Given the description of an element on the screen output the (x, y) to click on. 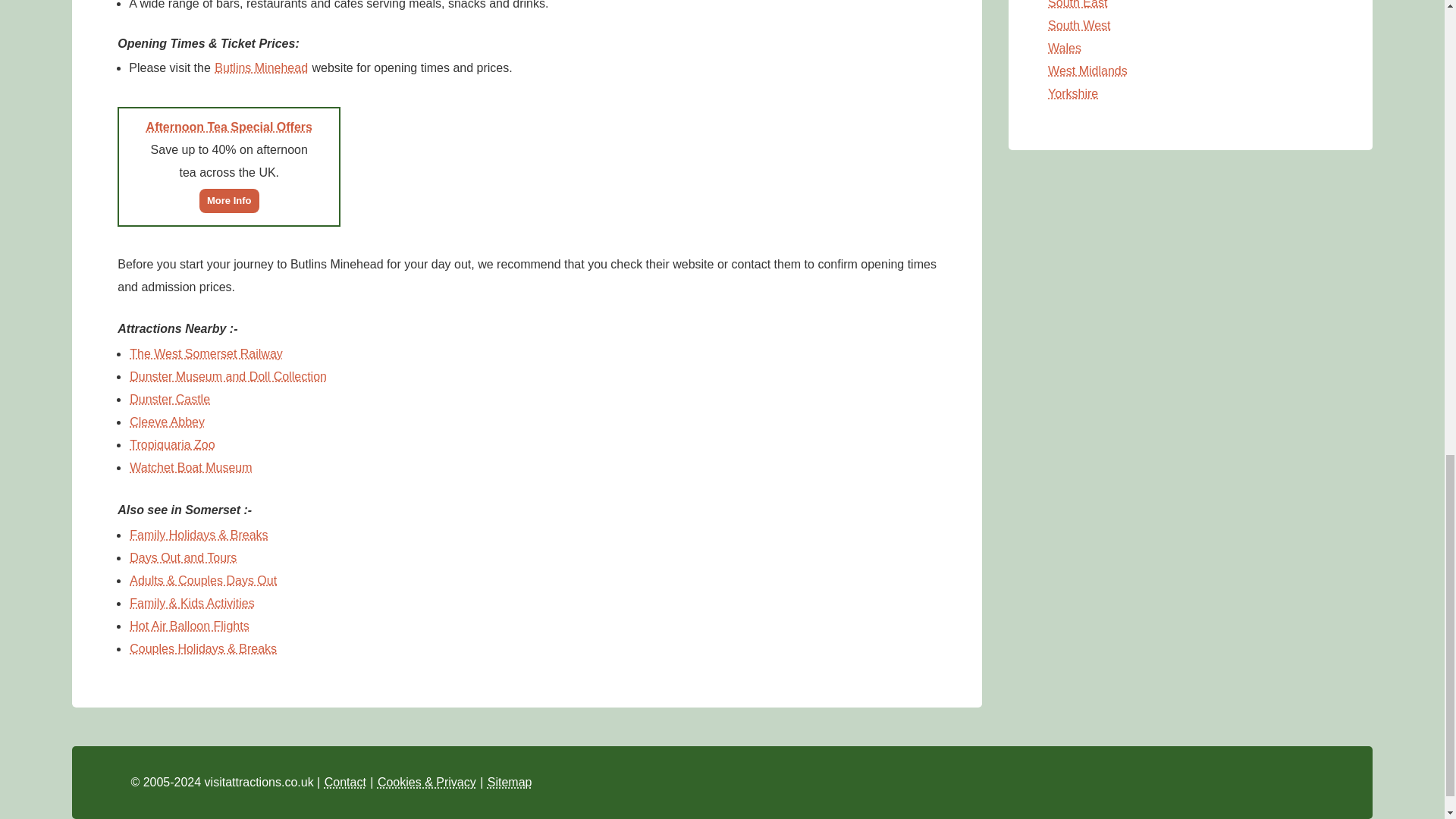
Dunster Castle (170, 399)
Dunster Museum and Doll Collection (228, 376)
More Info (229, 198)
Afternoon Tea Special Offers (229, 125)
Tropiquaria Zoo (172, 444)
Butlins Minehead (261, 66)
Hot Air Balloon Flights (188, 625)
Watchet Boat Museum (190, 467)
Days Out and Tours (183, 556)
The West Somerset Railway (206, 353)
